Given the description of an element on the screen output the (x, y) to click on. 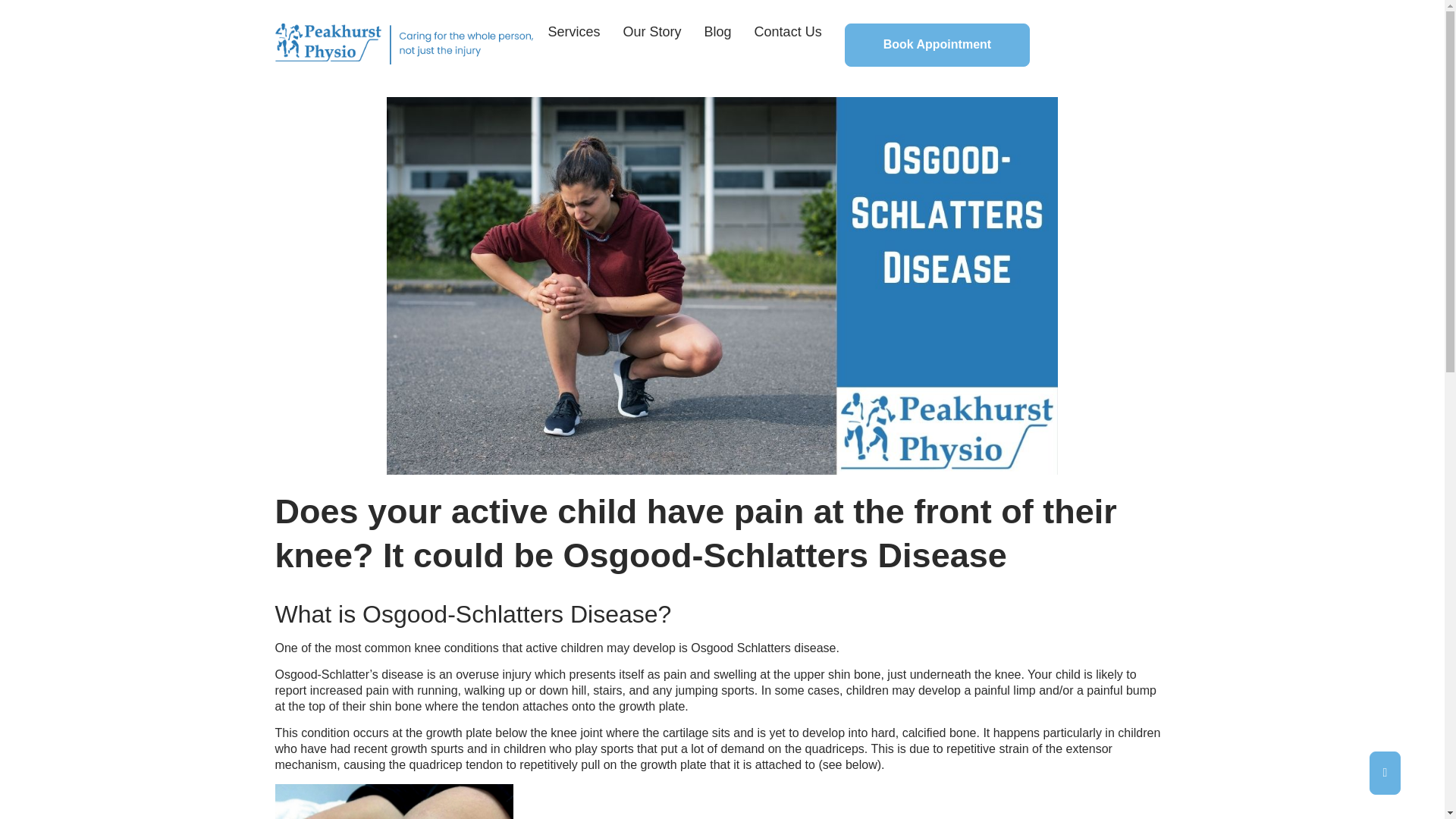
Book Appointment (937, 44)
Our Story (652, 31)
Contact Us (788, 31)
Services (573, 31)
Blog (718, 31)
